Given the description of an element on the screen output the (x, y) to click on. 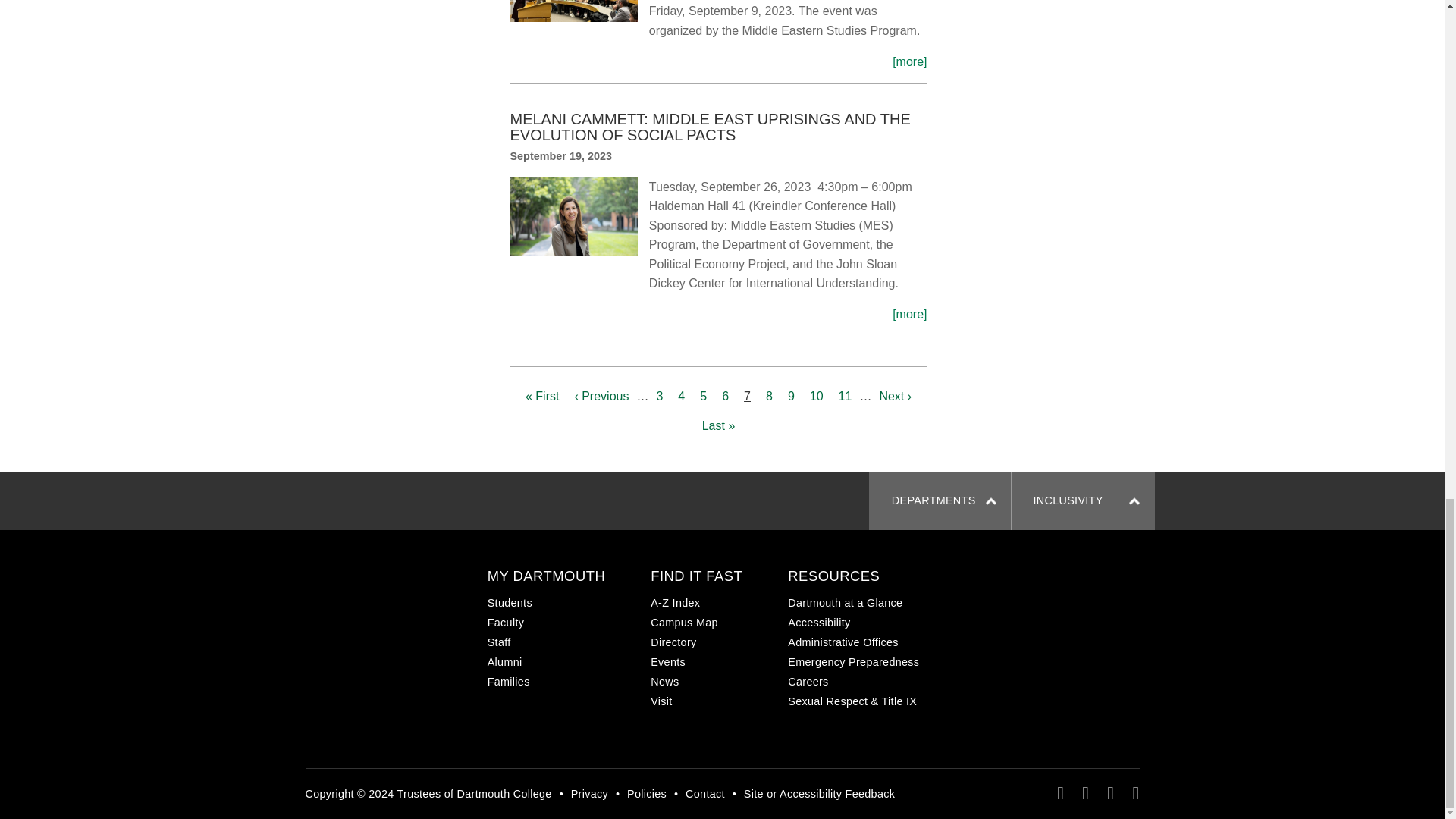
Go to page 11 (845, 396)
Go to page 10 (816, 396)
